Given the description of an element on the screen output the (x, y) to click on. 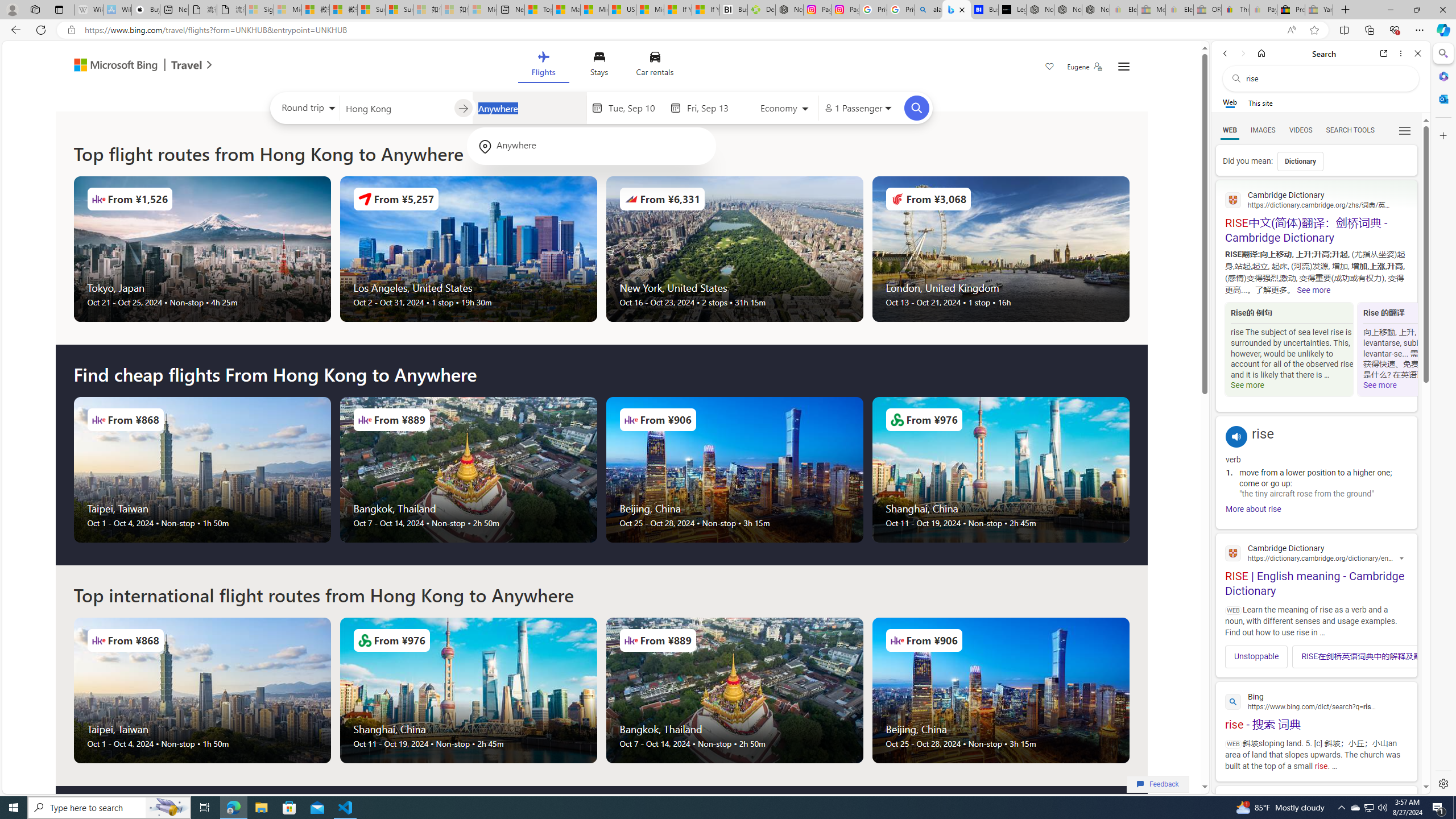
Threats and offensive language policy | eBay (1235, 9)
to (462, 108)
